Given the description of an element on the screen output the (x, y) to click on. 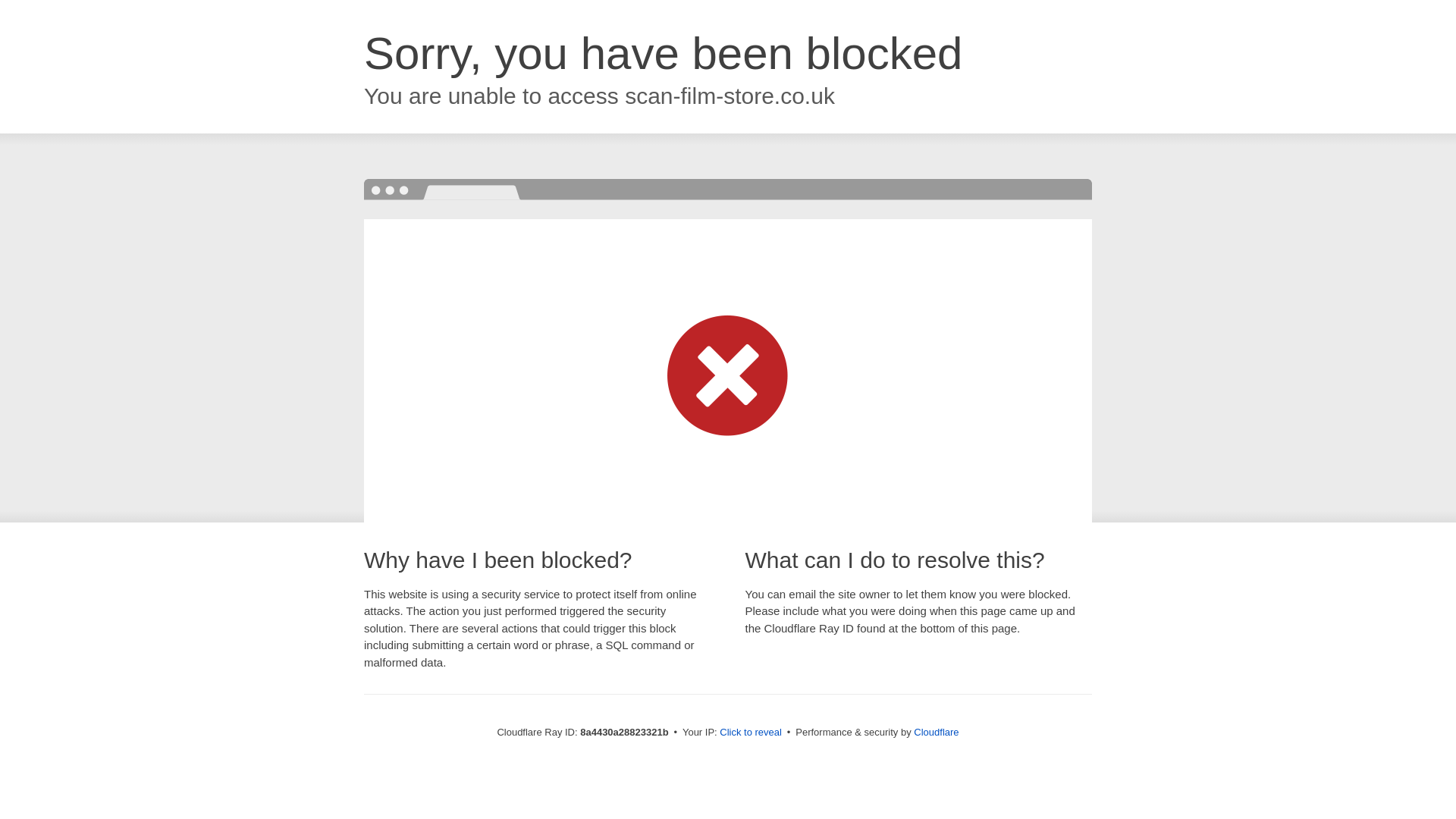
Cloudflare (936, 731)
Click to reveal (750, 732)
